Given the description of an element on the screen output the (x, y) to click on. 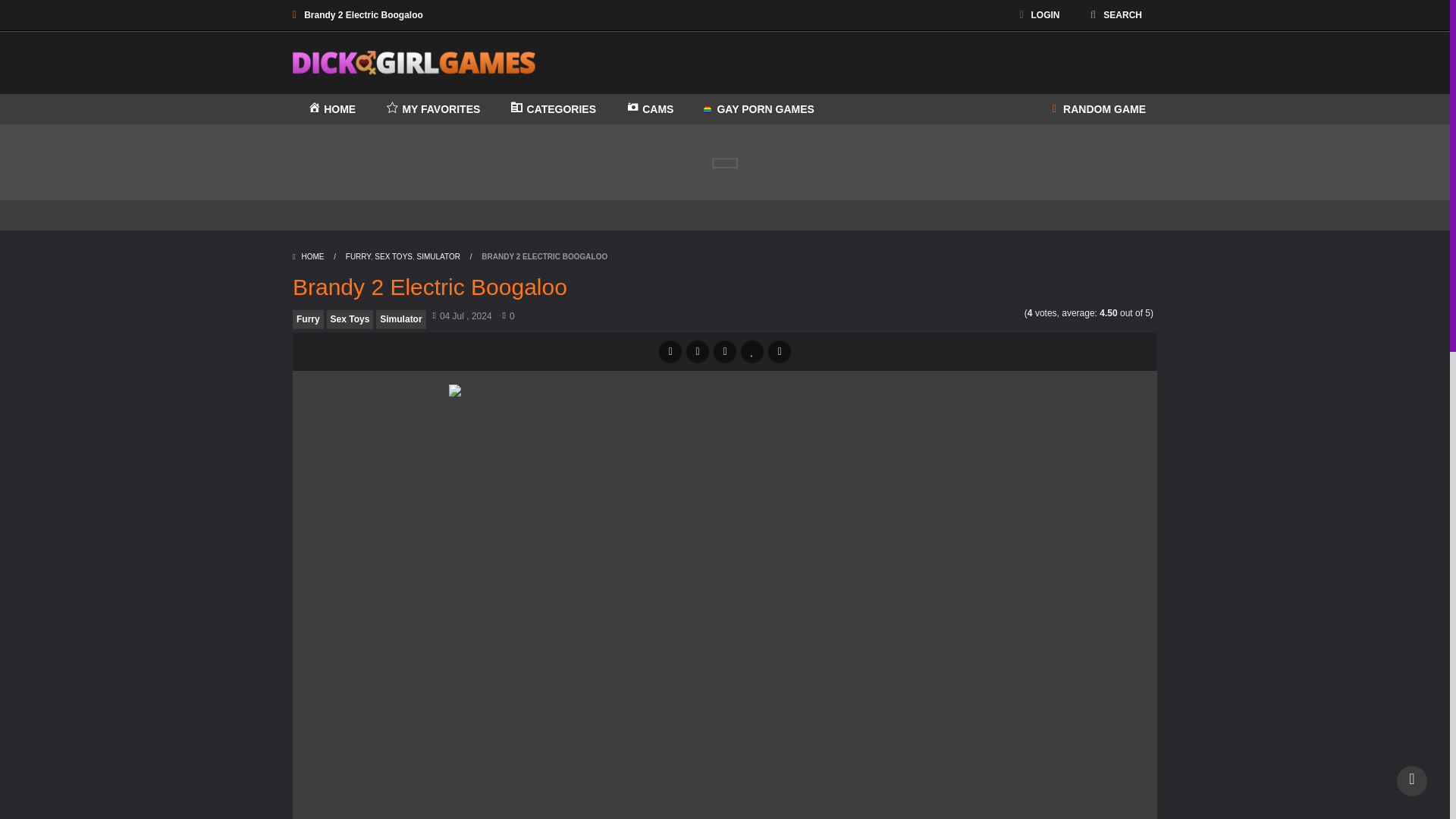
MY FAVORITES (433, 109)
LOGIN (1038, 15)
Play a random game! (1099, 109)
CAMS (649, 109)
GAY PORN GAMES (758, 109)
SEARCH (1115, 15)
Dick Girl Games (413, 62)
CATEGORIES (553, 109)
HOME (331, 109)
RANDOM GAME (1099, 109)
